Given the description of an element on the screen output the (x, y) to click on. 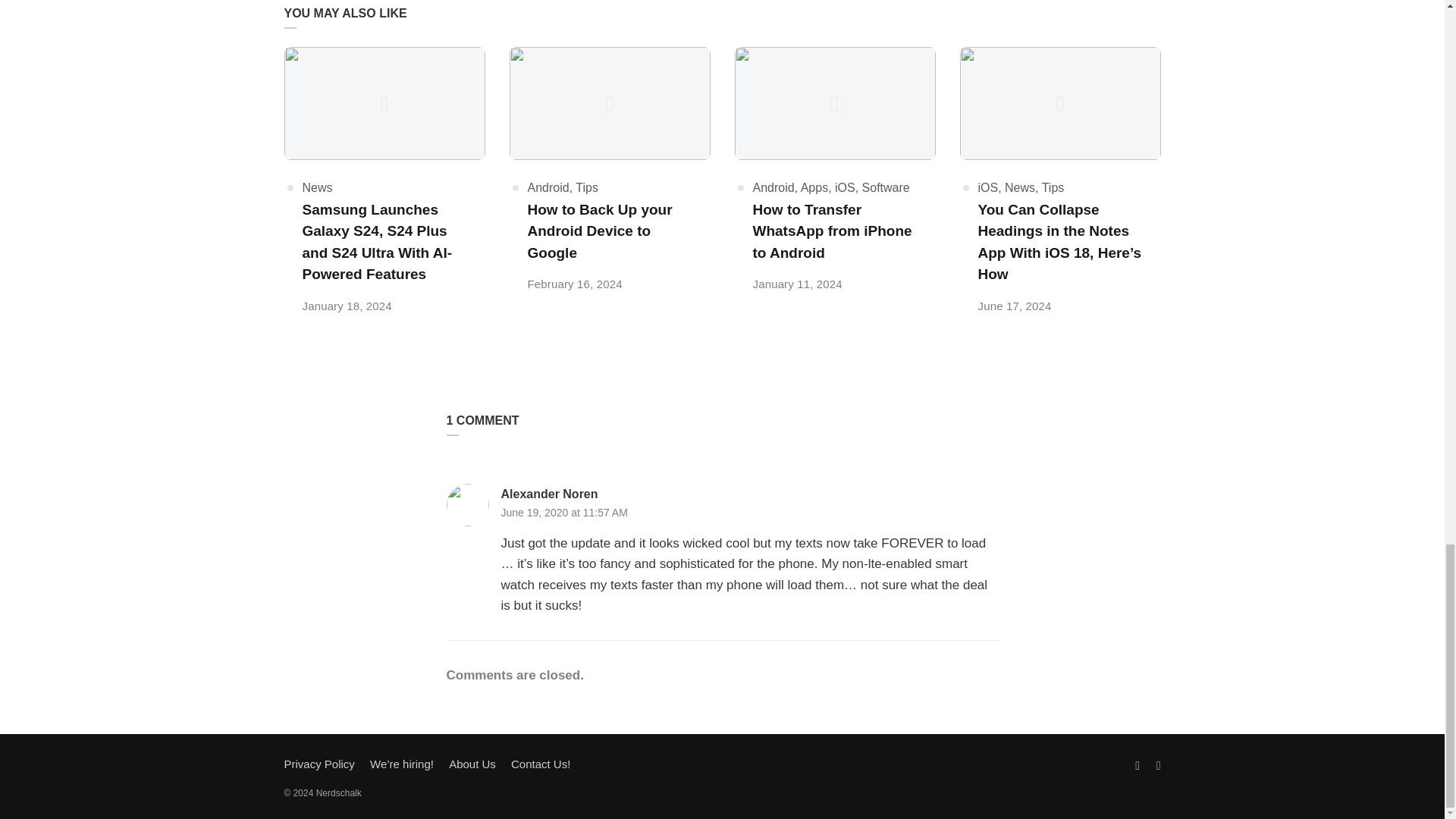
Android (548, 187)
News (316, 187)
Tips (586, 187)
